Given the description of an element on the screen output the (x, y) to click on. 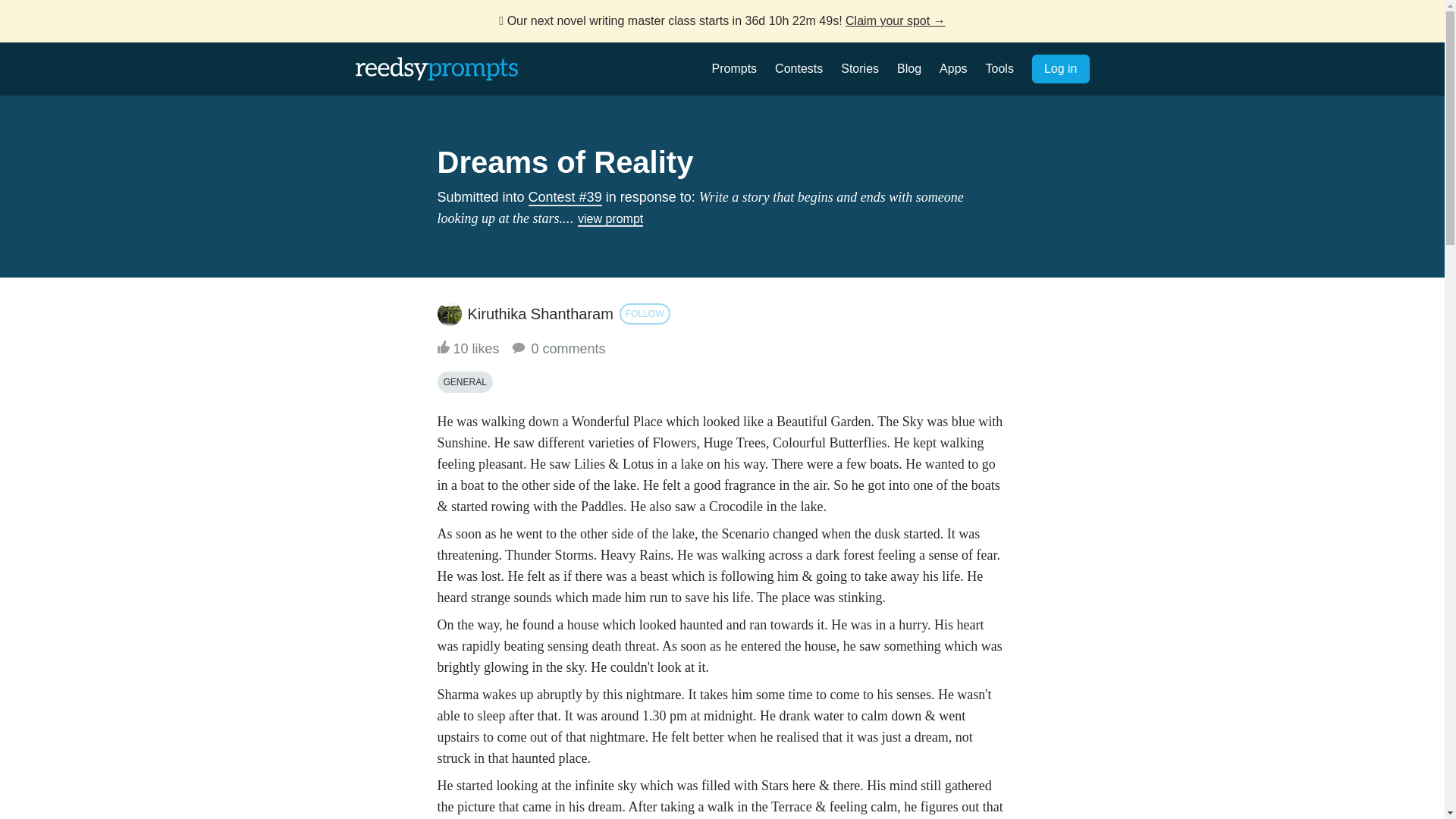
Tools (999, 68)
Prompts (734, 68)
0 comments (557, 348)
Blog (908, 68)
Contests (798, 68)
Stories (860, 68)
Log in (1060, 68)
Apps (952, 68)
